Given the description of an element on the screen output the (x, y) to click on. 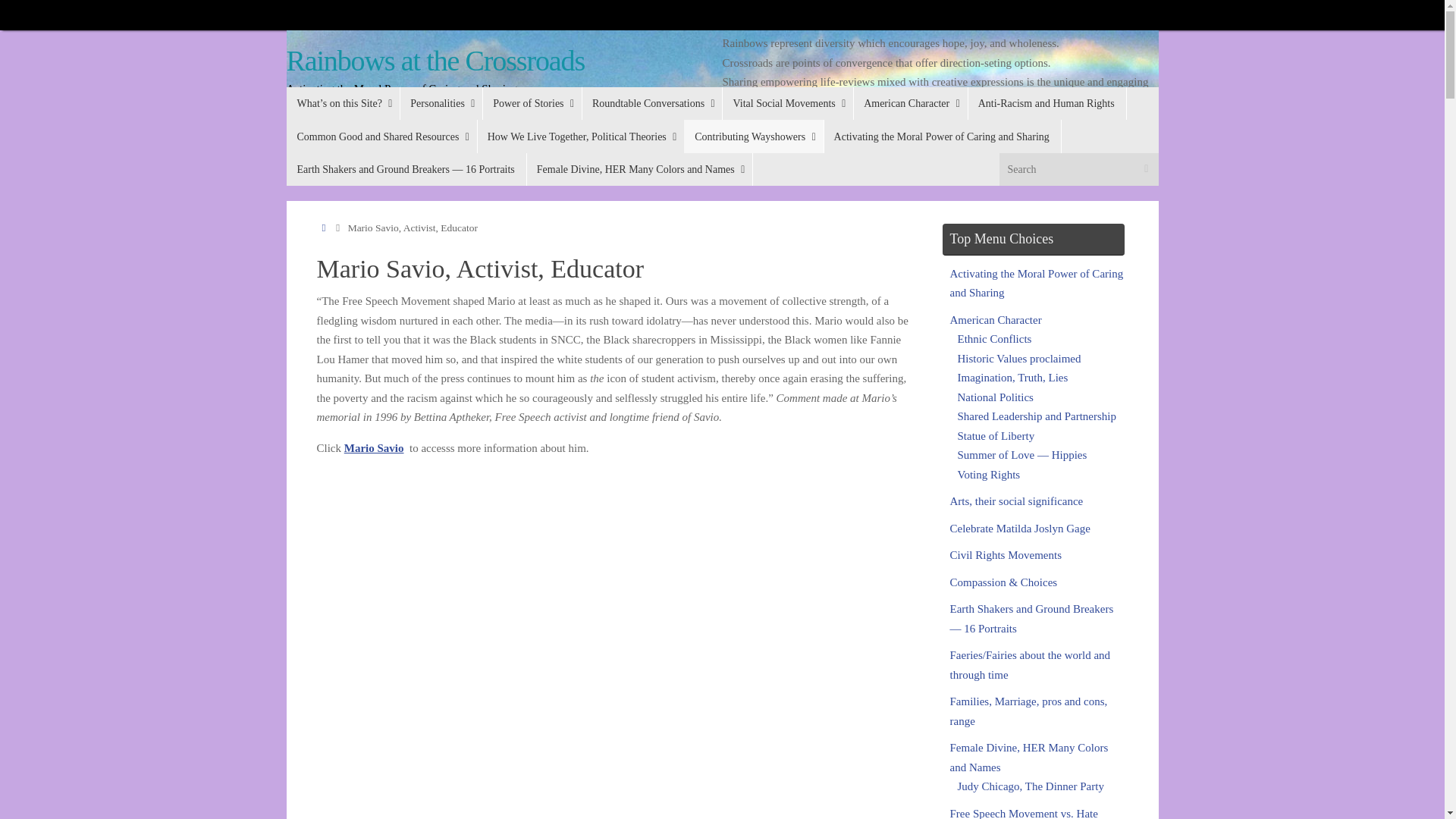
Rainbows at the Crossroads (435, 60)
Rainbows at the Crossroads (435, 60)
Personalities (439, 102)
Power of Stories (530, 102)
Roundtable Conversations (651, 102)
